Given the description of an element on the screen output the (x, y) to click on. 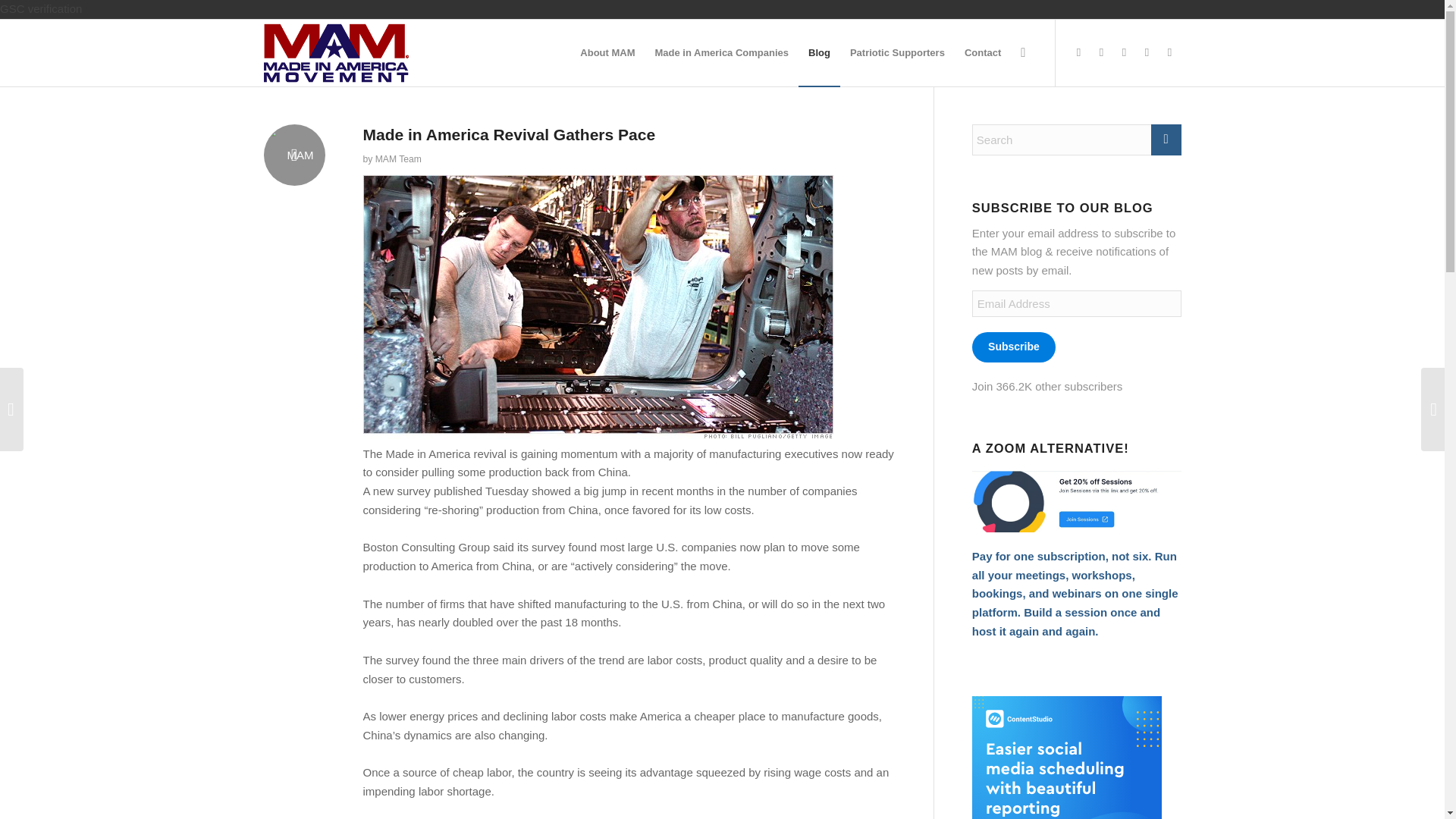
About MAM (607, 52)
Patriotic Supporters (897, 52)
Posts by MAM Team (398, 158)
MAM Team (398, 158)
Made in America Companies (722, 52)
Instagram (1146, 51)
Pinterest (1124, 51)
LinkedIn (1169, 51)
X (1101, 51)
Facebook (1078, 51)
